Given the description of an element on the screen output the (x, y) to click on. 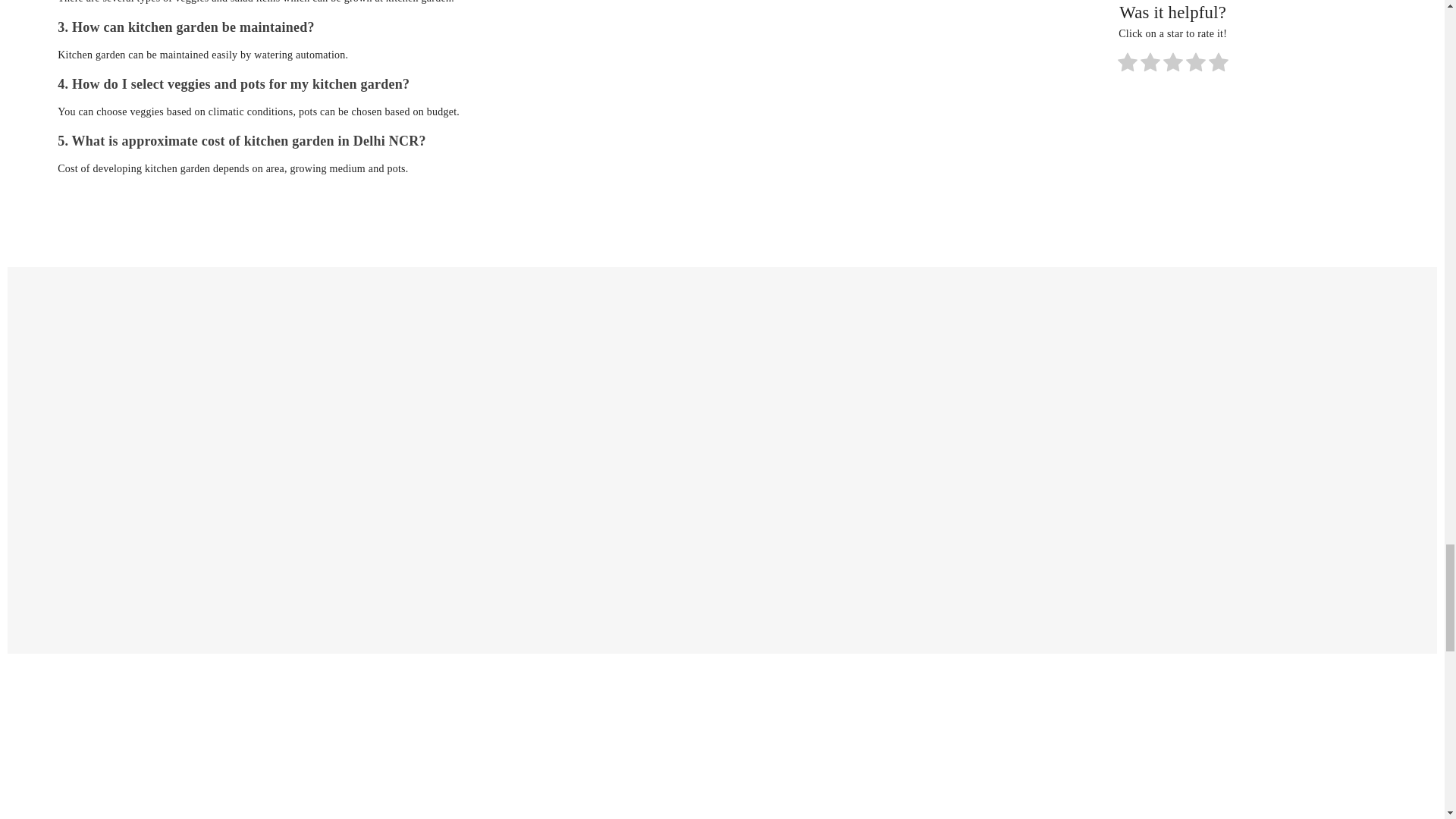
Visit our Farm (721, 739)
Premium Fiber Glass Planters (185, 459)
Trendy Terrarium Gardens (543, 459)
High Quality Metal Planters (900, 459)
Garden Miniatures Collection (1257, 459)
